Given the description of an element on the screen output the (x, y) to click on. 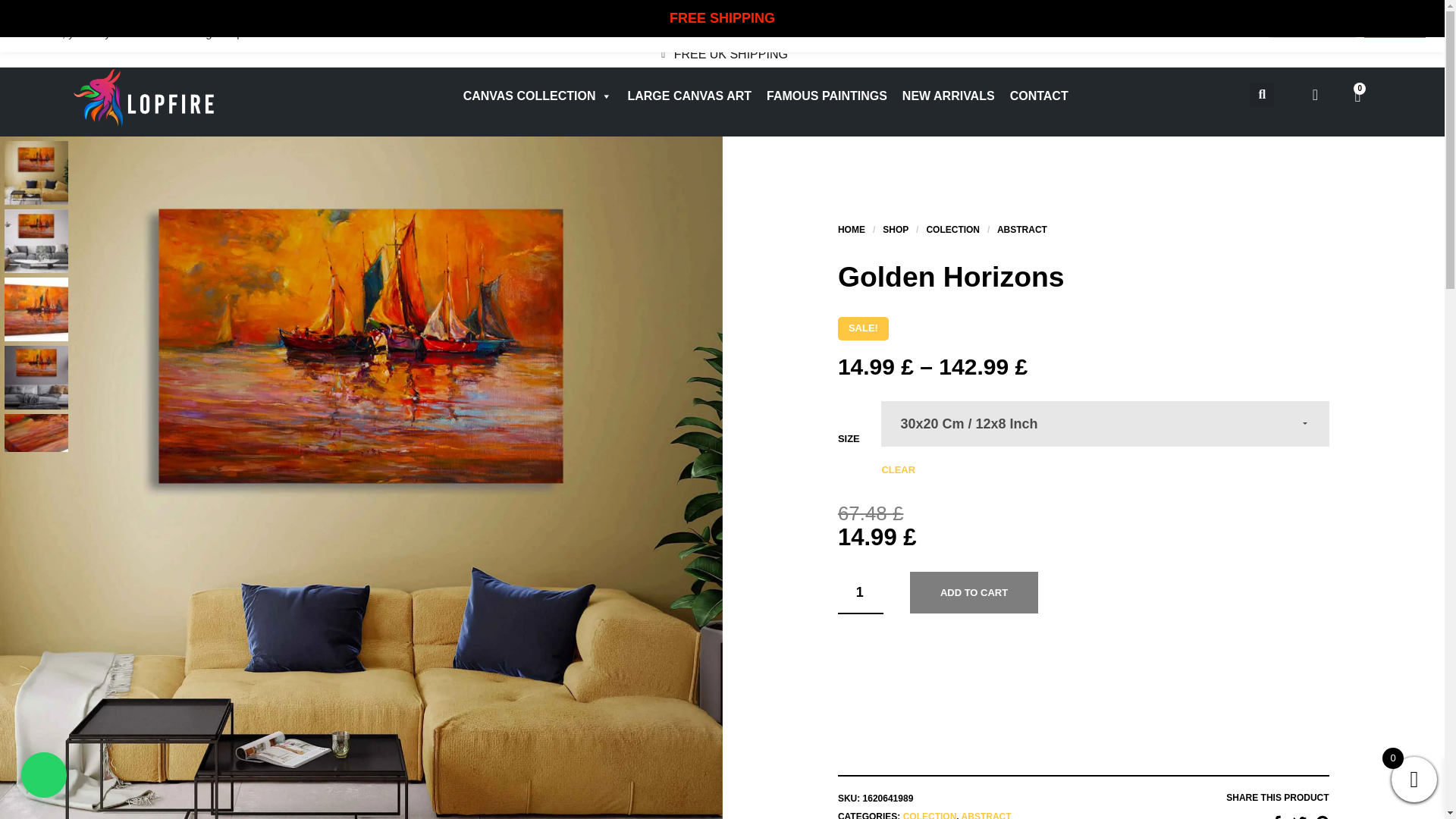
0 (1357, 95)
PayPal (1083, 667)
FAMOUS PAINTINGS (826, 96)
LARGE CANVAS ART (689, 96)
1 (860, 592)
NEW ARRIVALS (949, 96)
CANVAS COLLECTION (537, 96)
CONTACT (1039, 96)
FREE SHIPPING (721, 17)
